Given the description of an element on the screen output the (x, y) to click on. 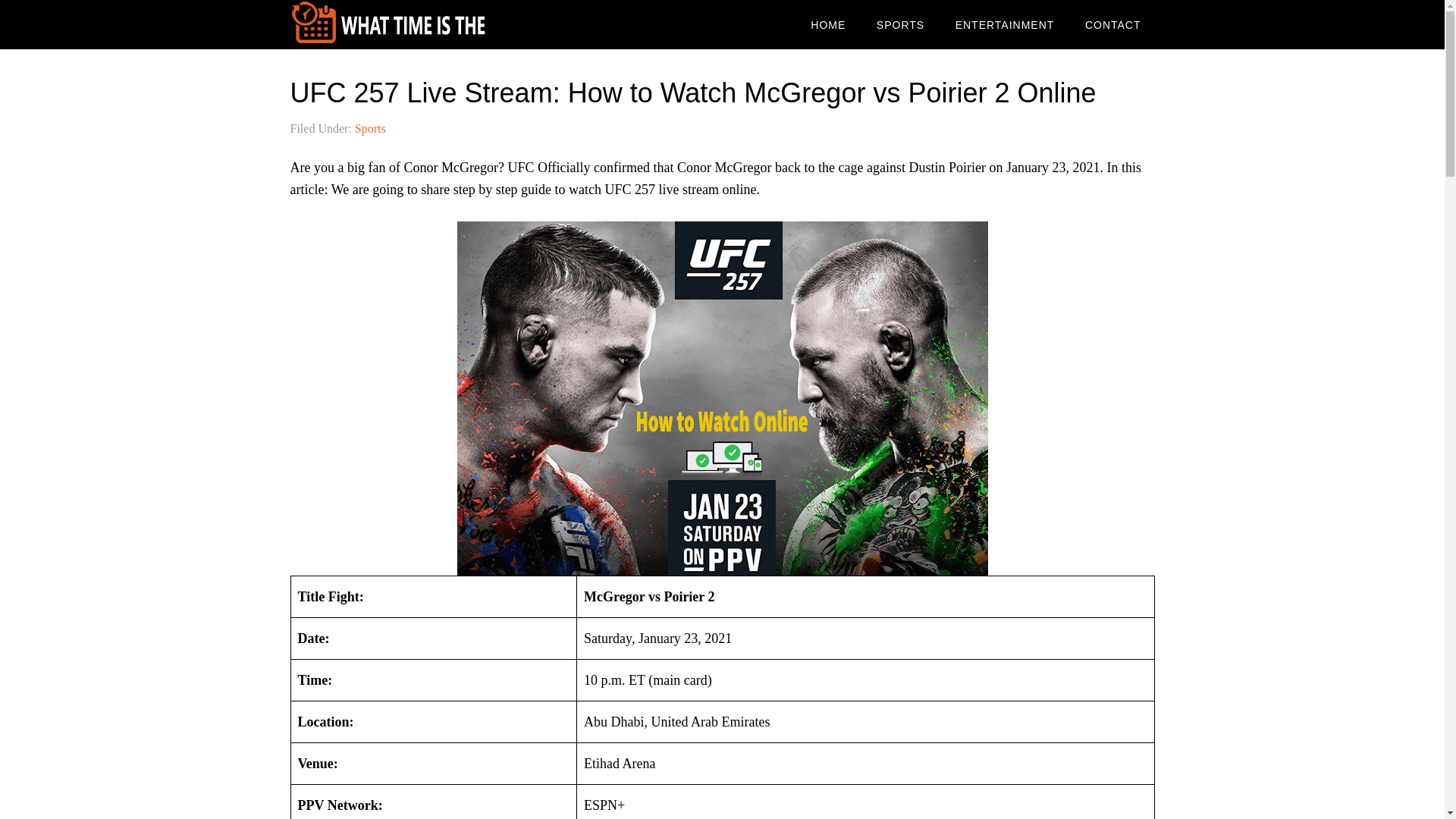
WHAT TIME IS THE (410, 24)
HOME (827, 24)
Sports (370, 128)
ENTERTAINMENT (1005, 24)
SPORTS (900, 24)
CONTACT (1112, 24)
